Given the description of an element on the screen output the (x, y) to click on. 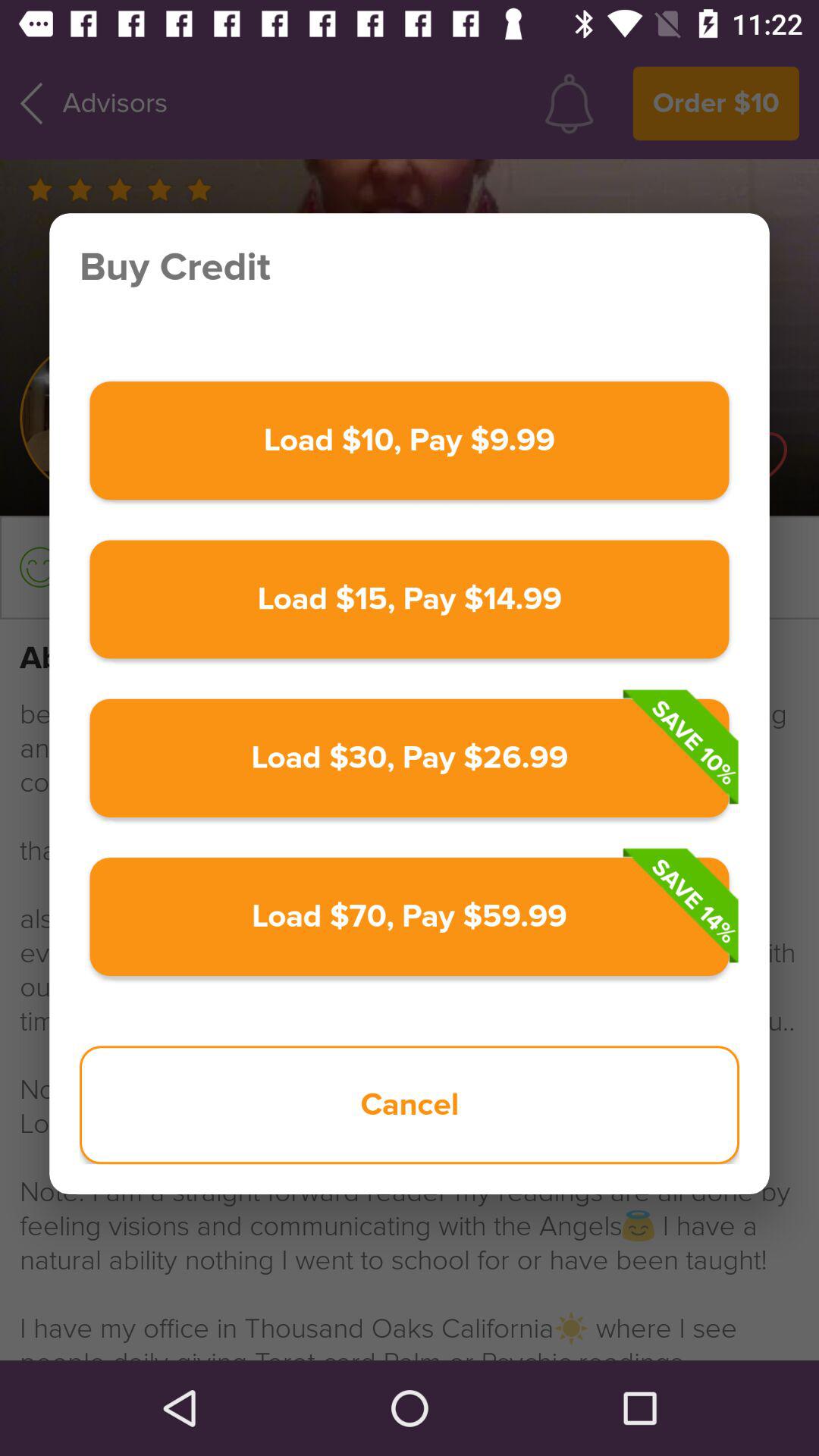
turn on the item below load 70 pay item (409, 1104)
